Given the description of an element on the screen output the (x, y) to click on. 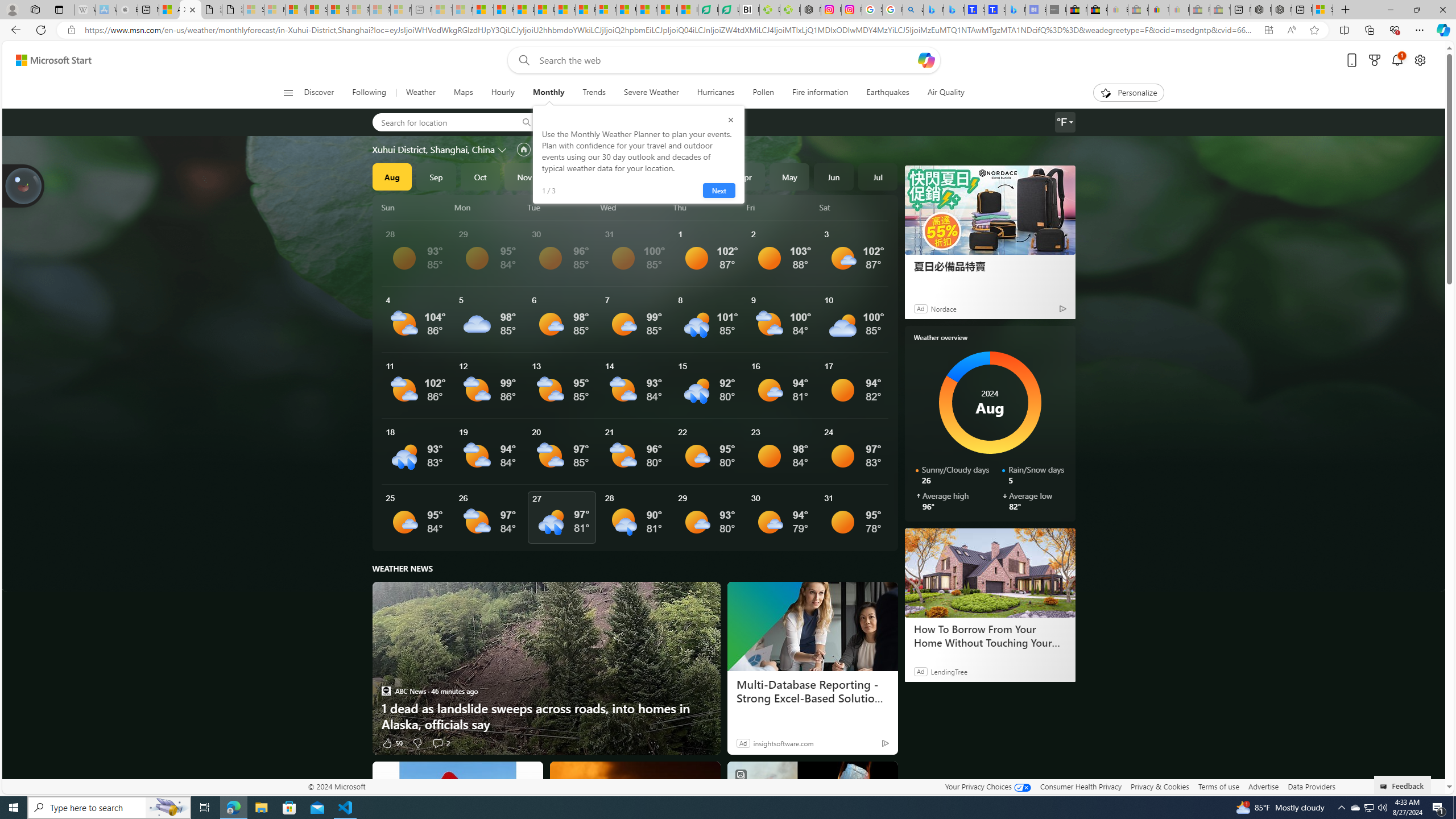
Jul (877, 176)
Feb (657, 176)
alabama high school quarterback dies - Search (913, 9)
Microsoft account | Account Checkup - Sleeping (400, 9)
Trends (593, 92)
